Given the description of an element on the screen output the (x, y) to click on. 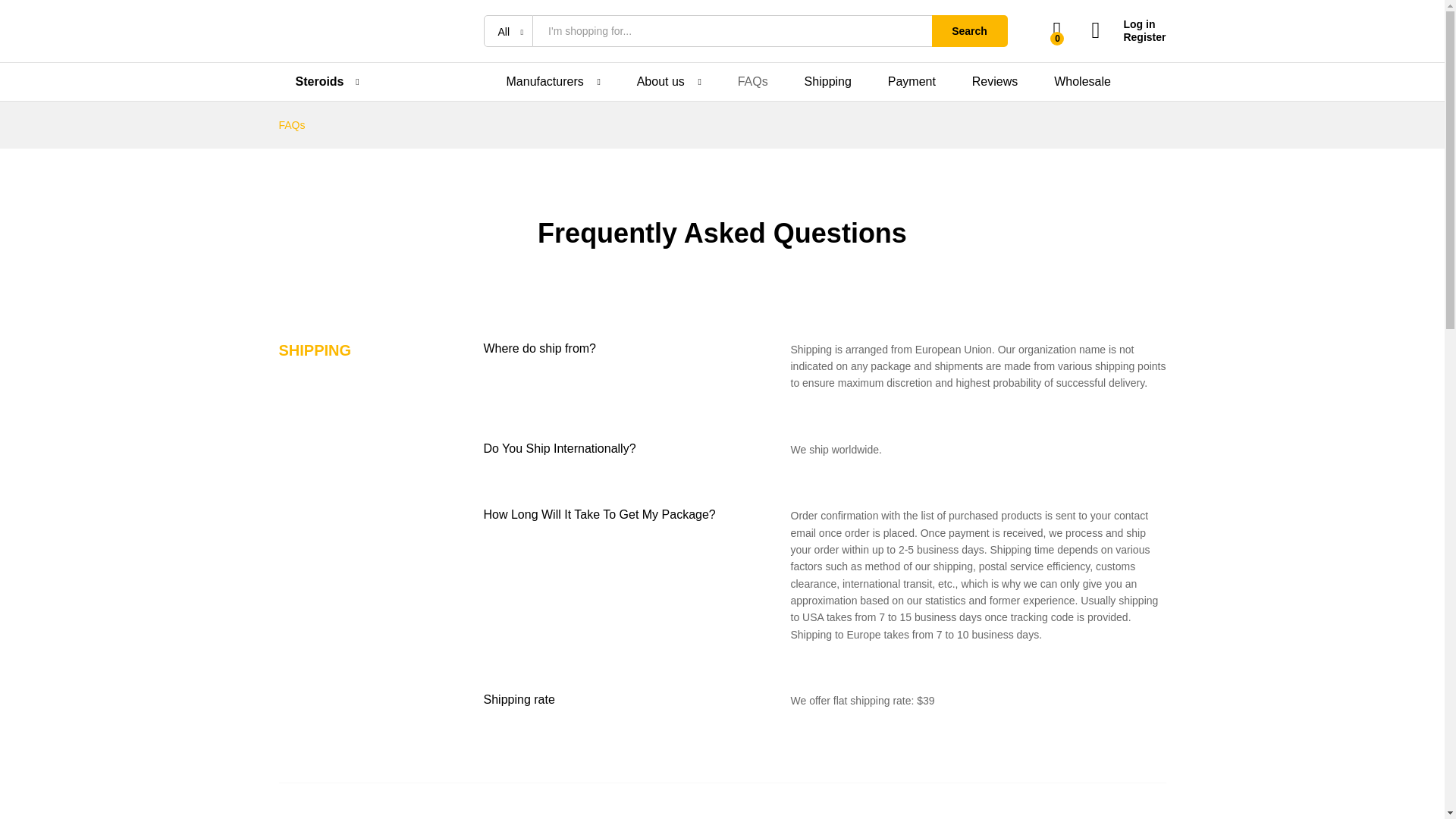
Shipping (828, 81)
Manufacturers (544, 81)
About us (660, 81)
Log in (1128, 24)
Wholesale (1082, 81)
Search (969, 30)
Reviews (994, 81)
FAQs (753, 81)
Register (1128, 37)
Payment (912, 81)
